Given the description of an element on the screen output the (x, y) to click on. 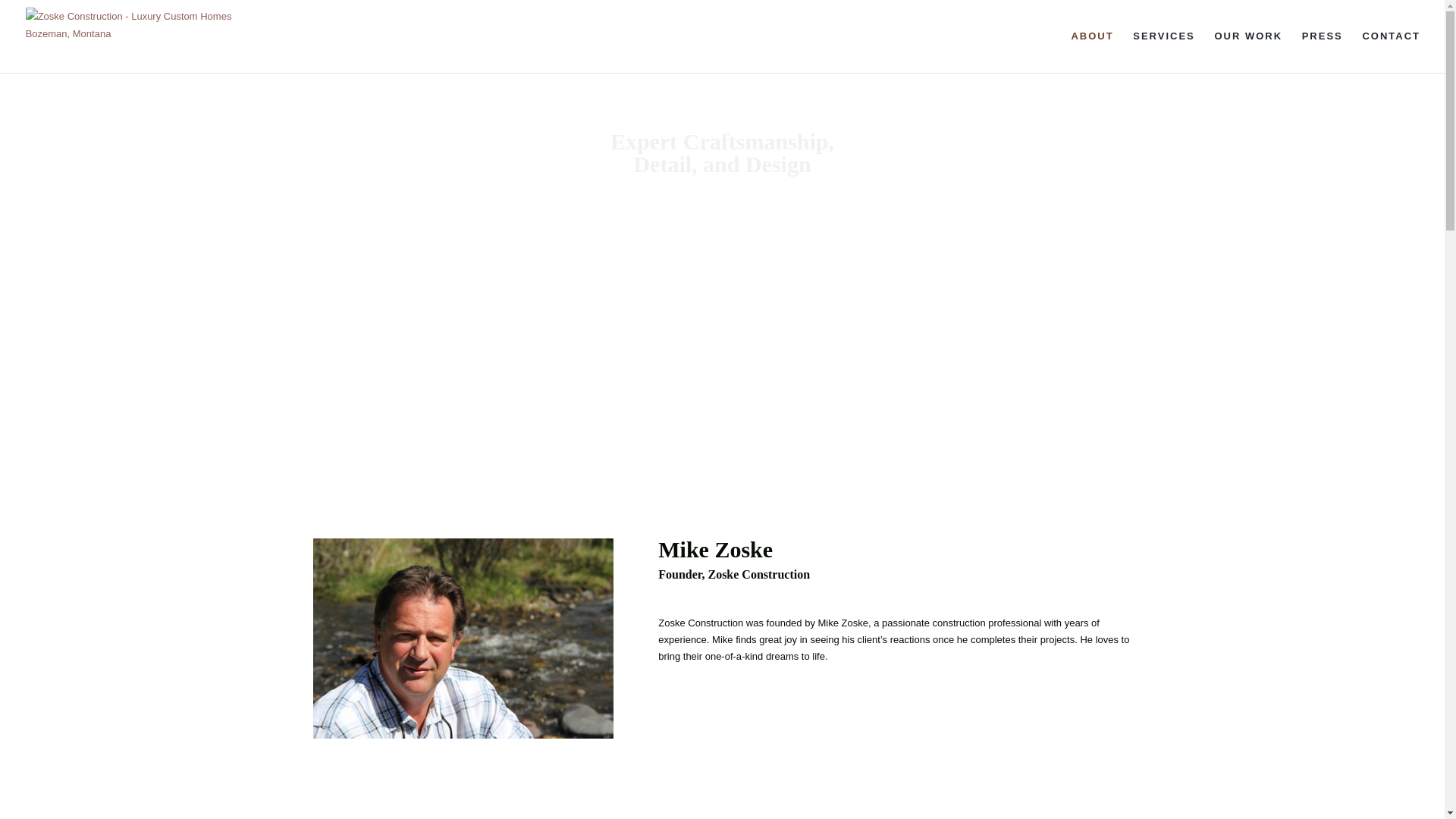
CONTACT (1391, 51)
ABOUT (1091, 51)
SERVICES (1163, 51)
Follow on Facebook (324, 772)
Follow on LinkedIn (354, 772)
Mike Zoske owner of Zoske Construction (462, 638)
PRESS (1321, 51)
OUR WORK (1248, 51)
